Given the description of an element on the screen output the (x, y) to click on. 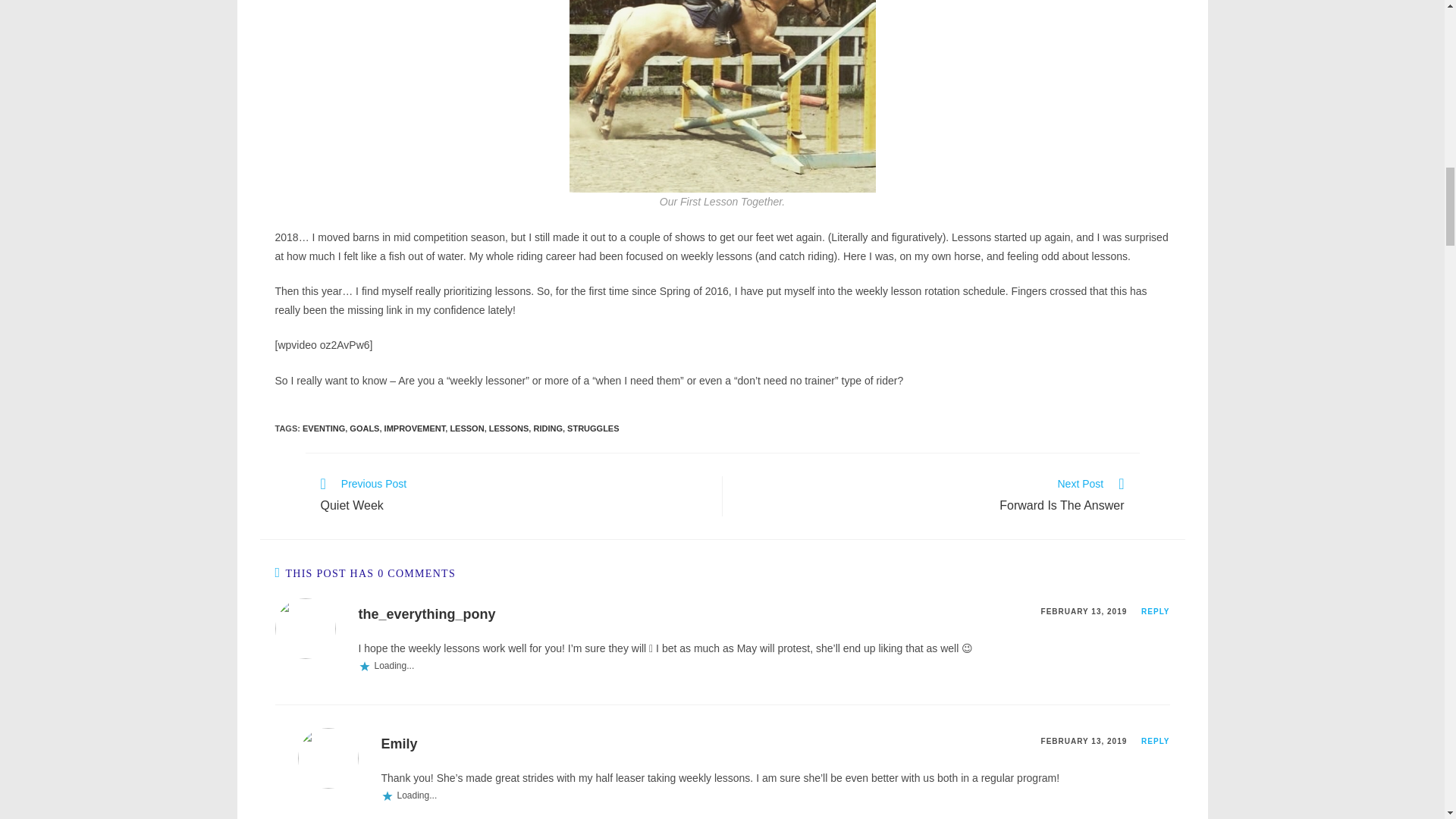
LESSONS (509, 428)
STRUGGLES (592, 428)
RIDING (547, 428)
GOALS (363, 428)
Emily (513, 495)
IMPROVEMENT (398, 743)
LESSON (414, 428)
REPLY (466, 428)
EVENTING (1155, 741)
REPLY (930, 495)
